Given the description of an element on the screen output the (x, y) to click on. 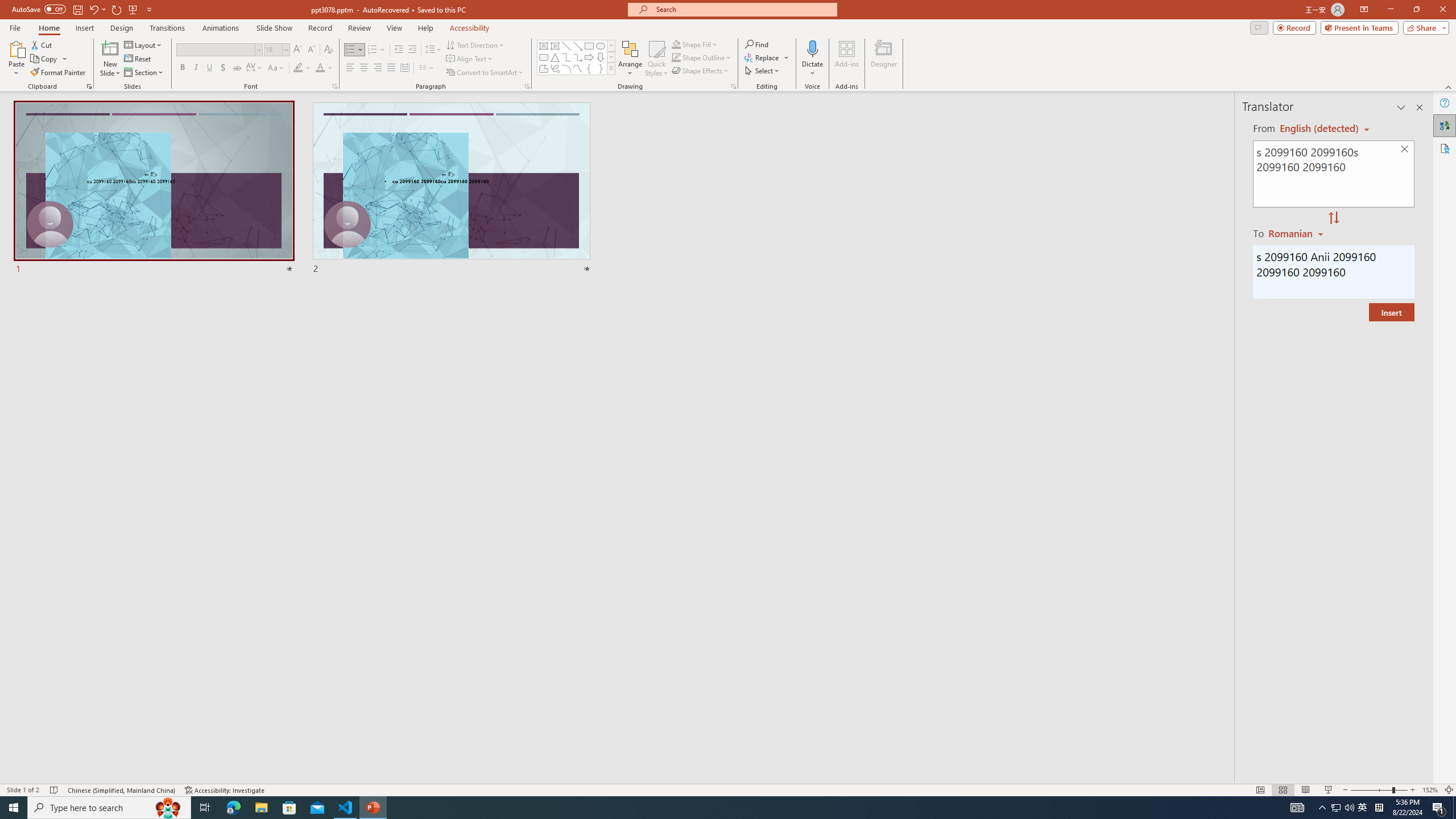
Romanian (1296, 232)
